Given the description of an element on the screen output the (x, y) to click on. 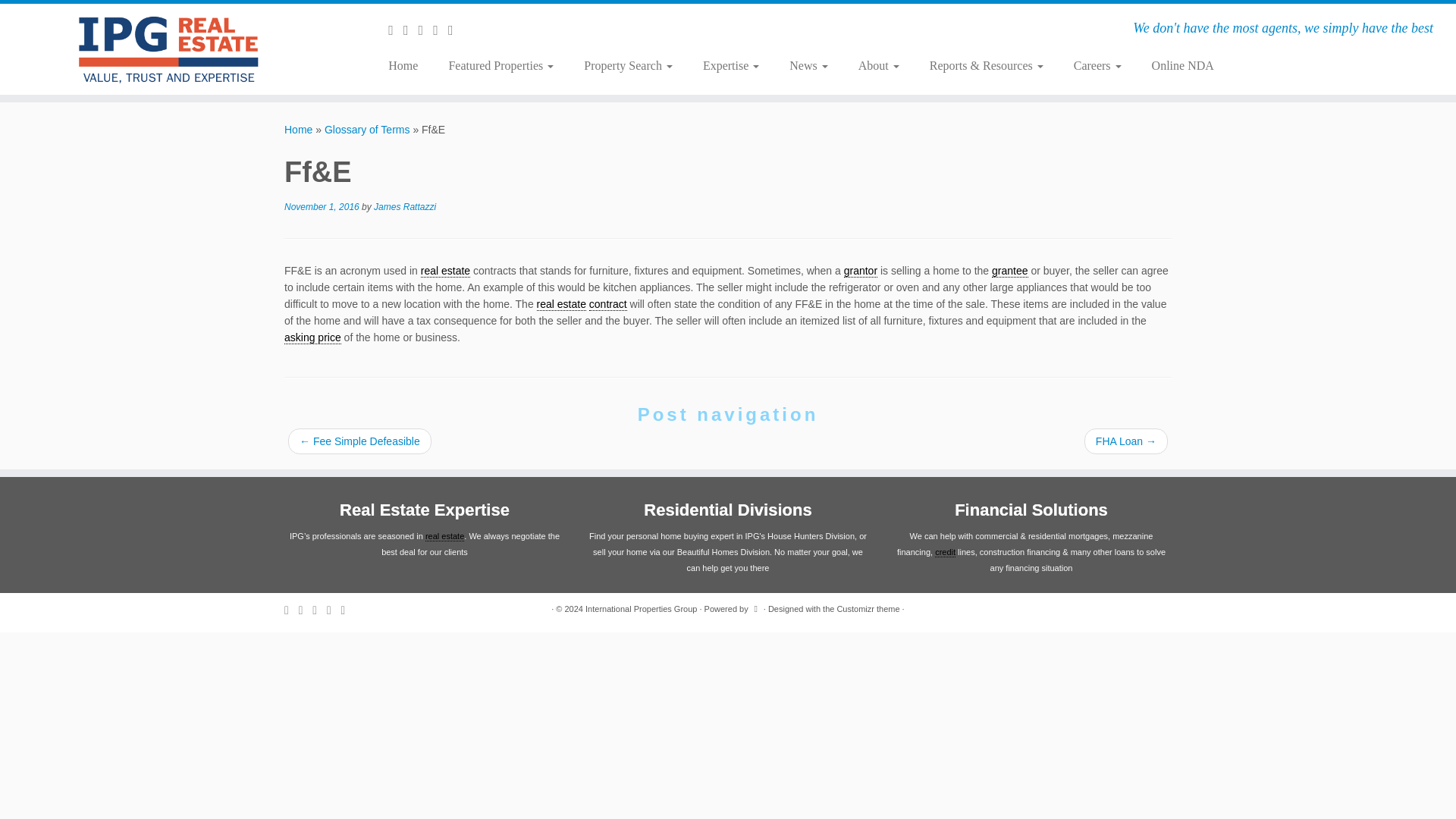
Subscribe to my rss feed (395, 29)
Follow me on Facebook (426, 29)
International Properties Group (298, 129)
Follow me on Twitter (411, 29)
News (808, 65)
9:42 am (321, 206)
Follow me on LinkedIn (455, 29)
View all posts by James Rattazzi (404, 206)
Featured Properties (500, 65)
Expertise (730, 65)
Property Search (628, 65)
Follow me on Instagram (440, 29)
Home (408, 65)
About (878, 65)
Glossary of Terms (367, 129)
